Given the description of an element on the screen output the (x, y) to click on. 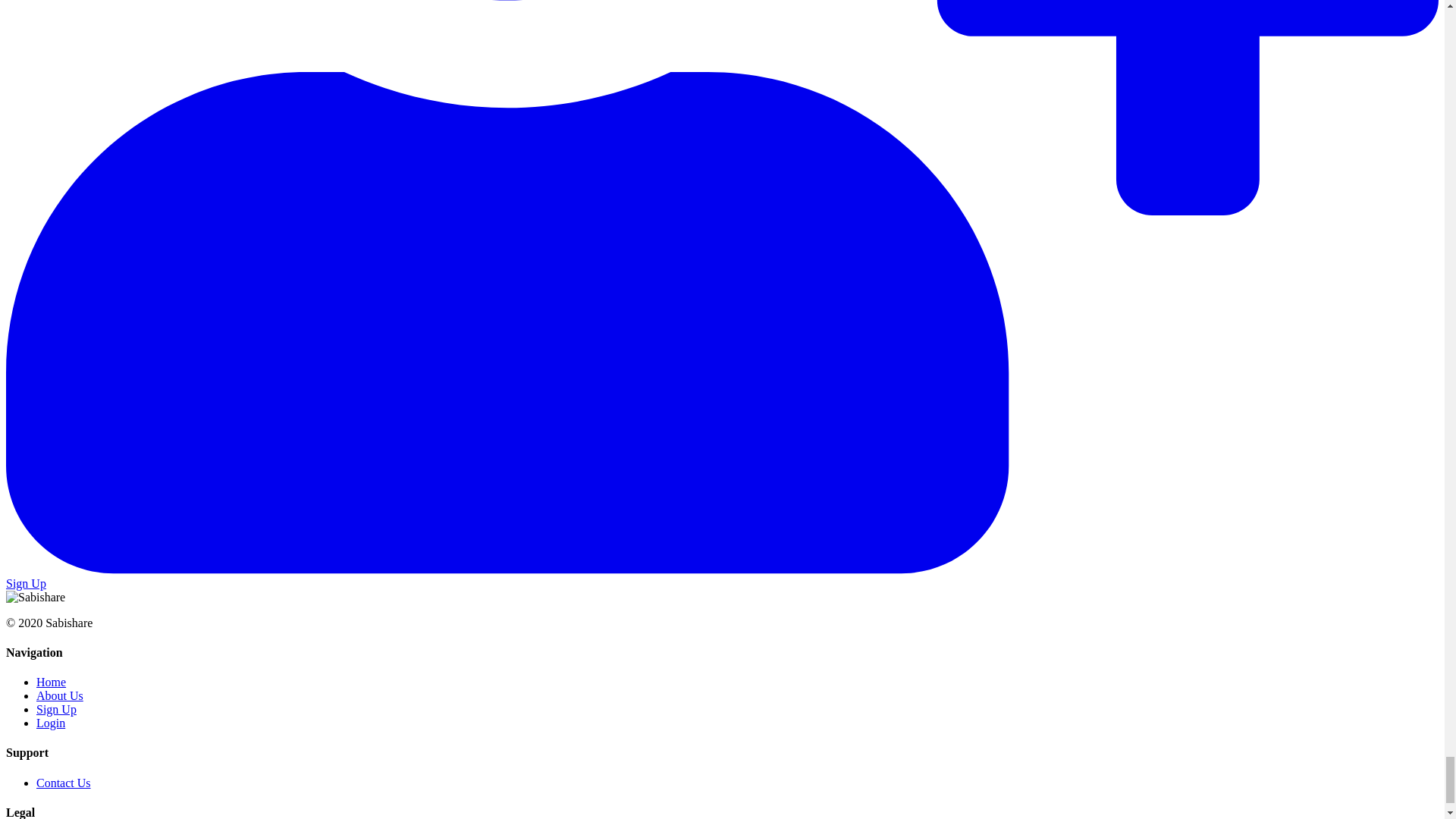
Sign Up (56, 708)
About Us (59, 695)
Login (50, 722)
Contact Us (63, 782)
Home (50, 681)
